Given the description of an element on the screen output the (x, y) to click on. 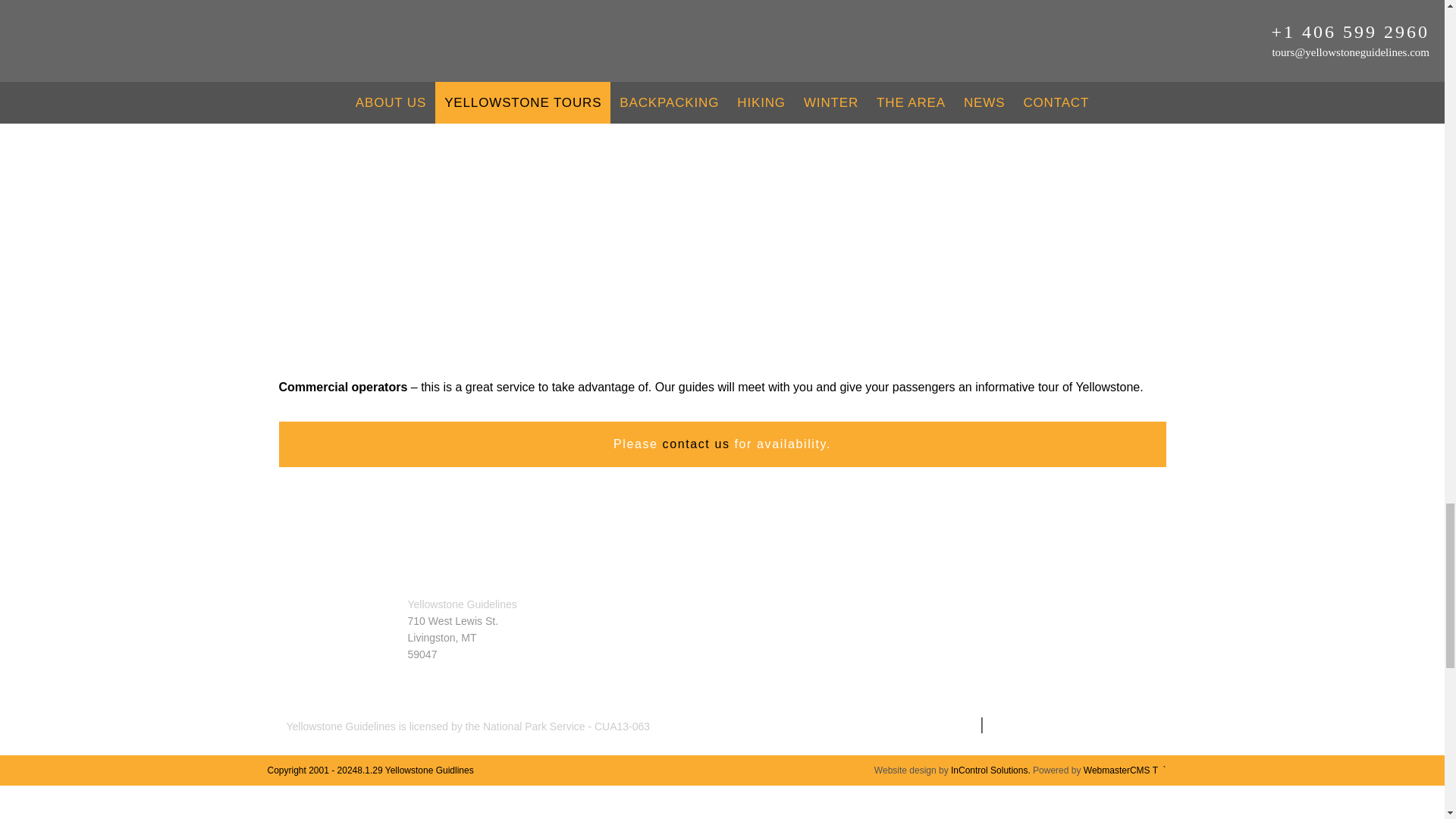
Please contact us for availability. (722, 443)
